Given the description of an element on the screen output the (x, y) to click on. 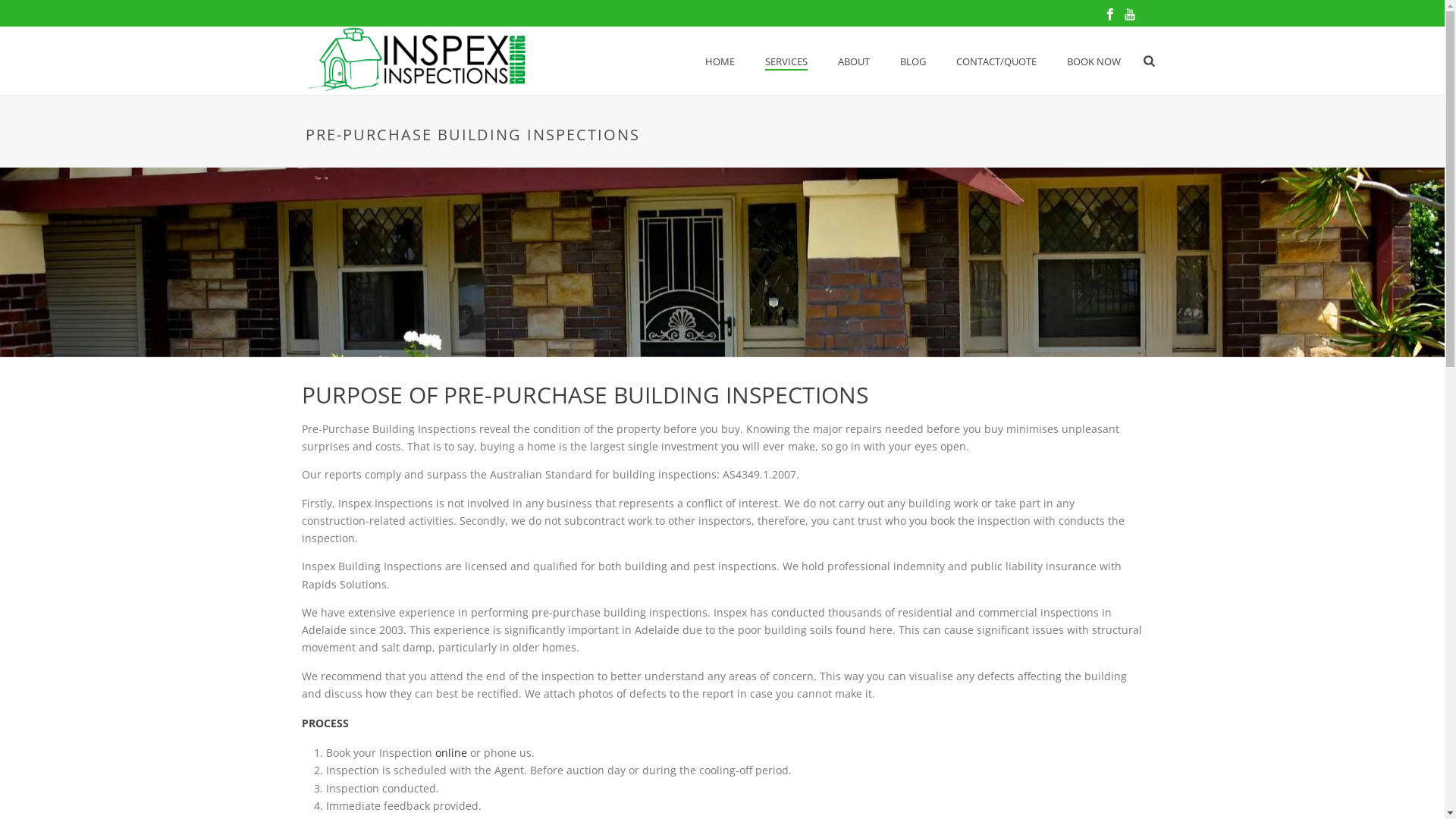
HOME Element type: text (719, 61)
BOOK NOW Element type: text (1093, 61)
ABOUT Element type: text (853, 61)
online Element type: text (451, 752)
Building Inspections Adelaide Element type: hover (416, 60)
SERVICES Element type: text (785, 61)
CONTACT/QUOTE Element type: text (996, 61)
BLOG Element type: text (912, 61)
